Given the description of an element on the screen output the (x, y) to click on. 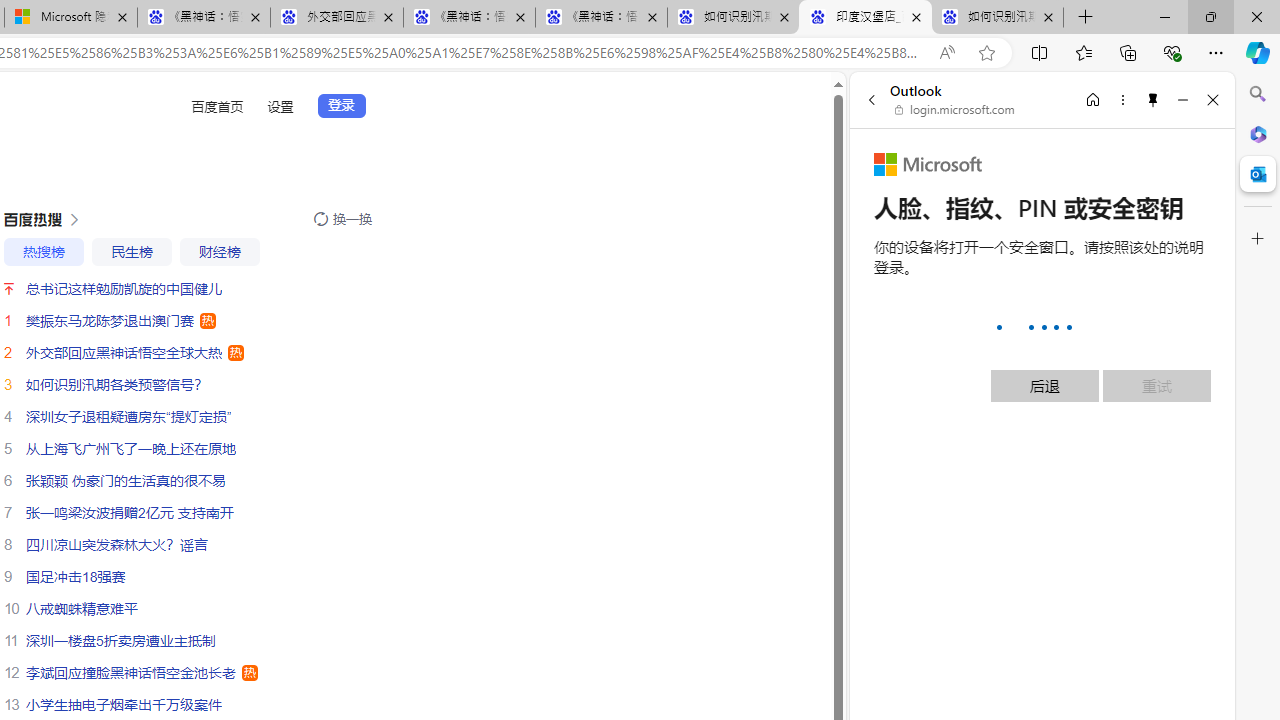
Unpin side pane (1153, 99)
